Given the description of an element on the screen output the (x, y) to click on. 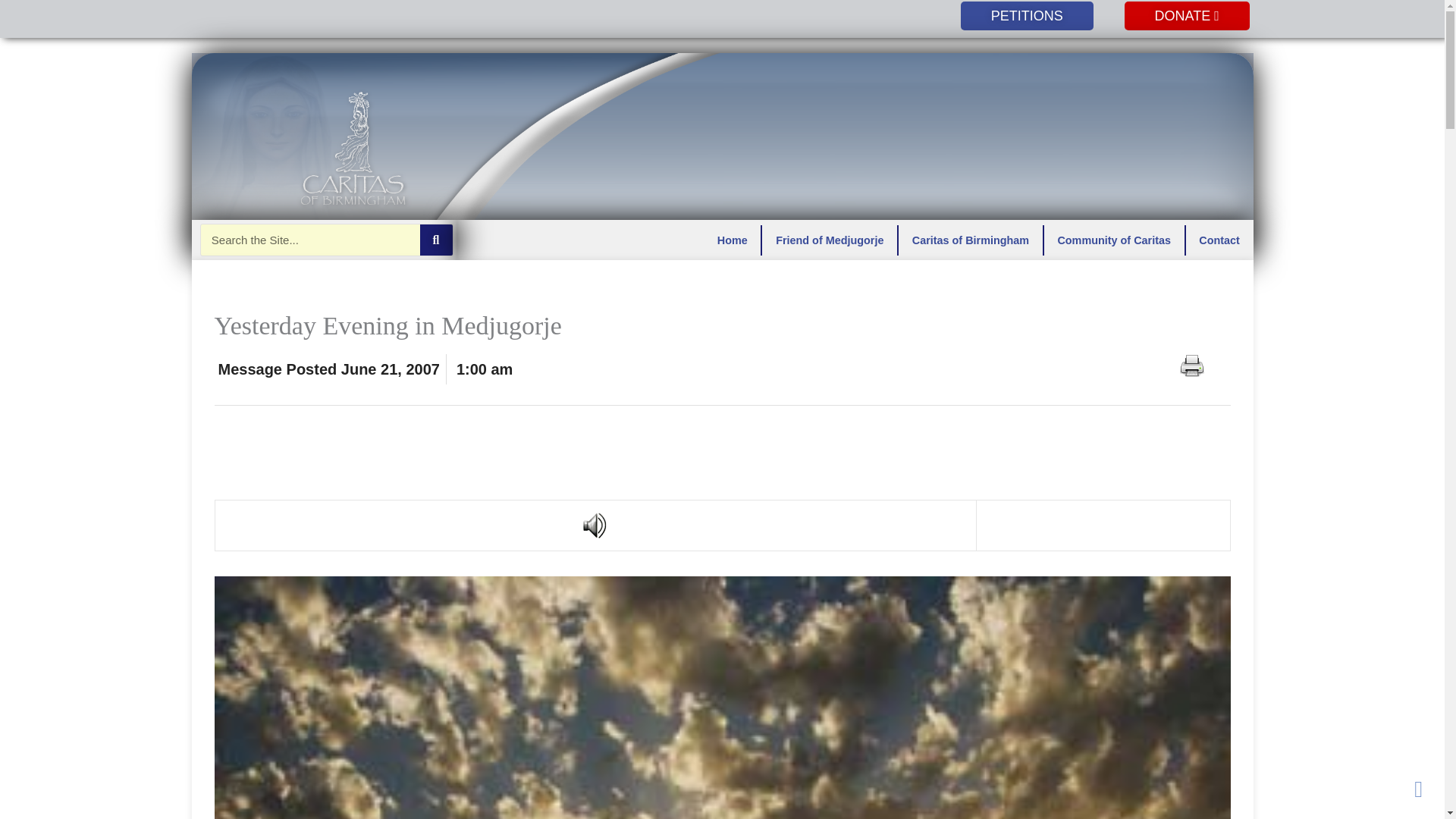
Home (731, 239)
Caritas of Birmingham (970, 239)
DONATE (1186, 15)
Community of Caritas (1114, 239)
PETITIONS (1026, 15)
Contact (1219, 239)
Friend of Medjugorje (828, 239)
